Given the description of an element on the screen output the (x, y) to click on. 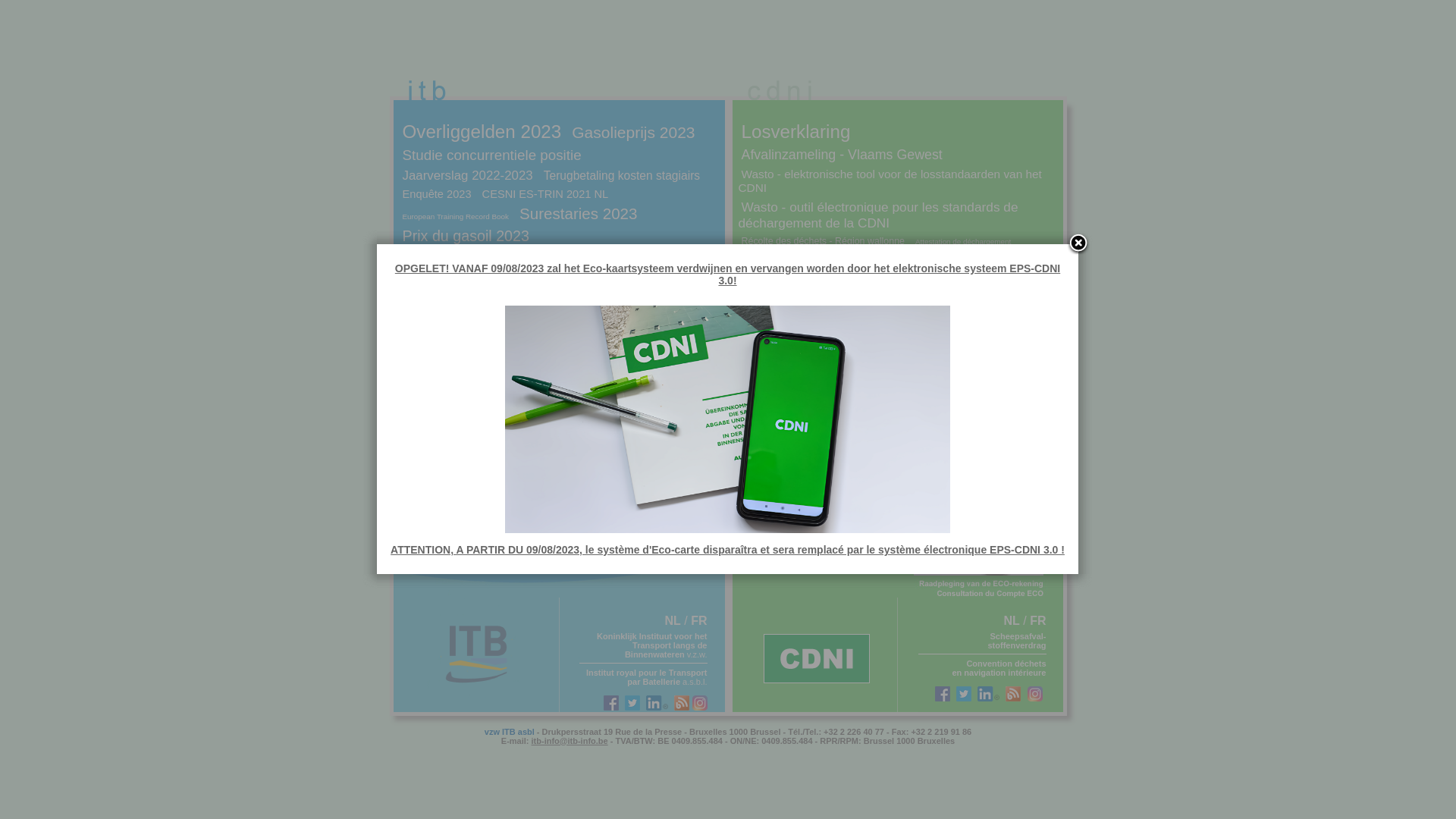
NL Element type: text (1011, 620)
CESNI ES-TRIN 2021 NL Element type: text (545, 193)
FR Element type: text (1037, 620)
Losverklaring Element type: text (795, 131)
Studie concurrentiele positie Element type: text (490, 154)
Overliggelden 2023 Element type: text (481, 131)
Prix du gasoil 2023 Element type: text (464, 235)
Afvalinzameling - Vlaams Gewest Element type: text (841, 154)
FR Element type: text (698, 620)
Scheepsafval-
stoffenverdrag Element type: text (1016, 639)
Terugbetaling kosten stagiairs Element type: text (621, 174)
Surestaries 2023 Element type: text (578, 213)
European Training Record Book Element type: text (454, 216)
NL Element type: text (672, 620)
Gasolieprijs 2023 Element type: text (632, 131)
Jaarverslag 2022-2023 Element type: text (466, 175)
CESNI ES-TRIN 2021 FR Element type: text (645, 314)
Remboursement frais stagiaires Element type: text (484, 314)
Rapport annuel 2022-2023 Element type: text (478, 276)
Etude position concurrentielle Element type: text (490, 256)
itb-info@itb-info.be Element type: text (569, 739)
Institut royal pour le Transport
par Batellerie a.s.b.l. Element type: text (646, 676)
SPW Conservation du domaine public Element type: text (501, 296)
